Given the description of an element on the screen output the (x, y) to click on. 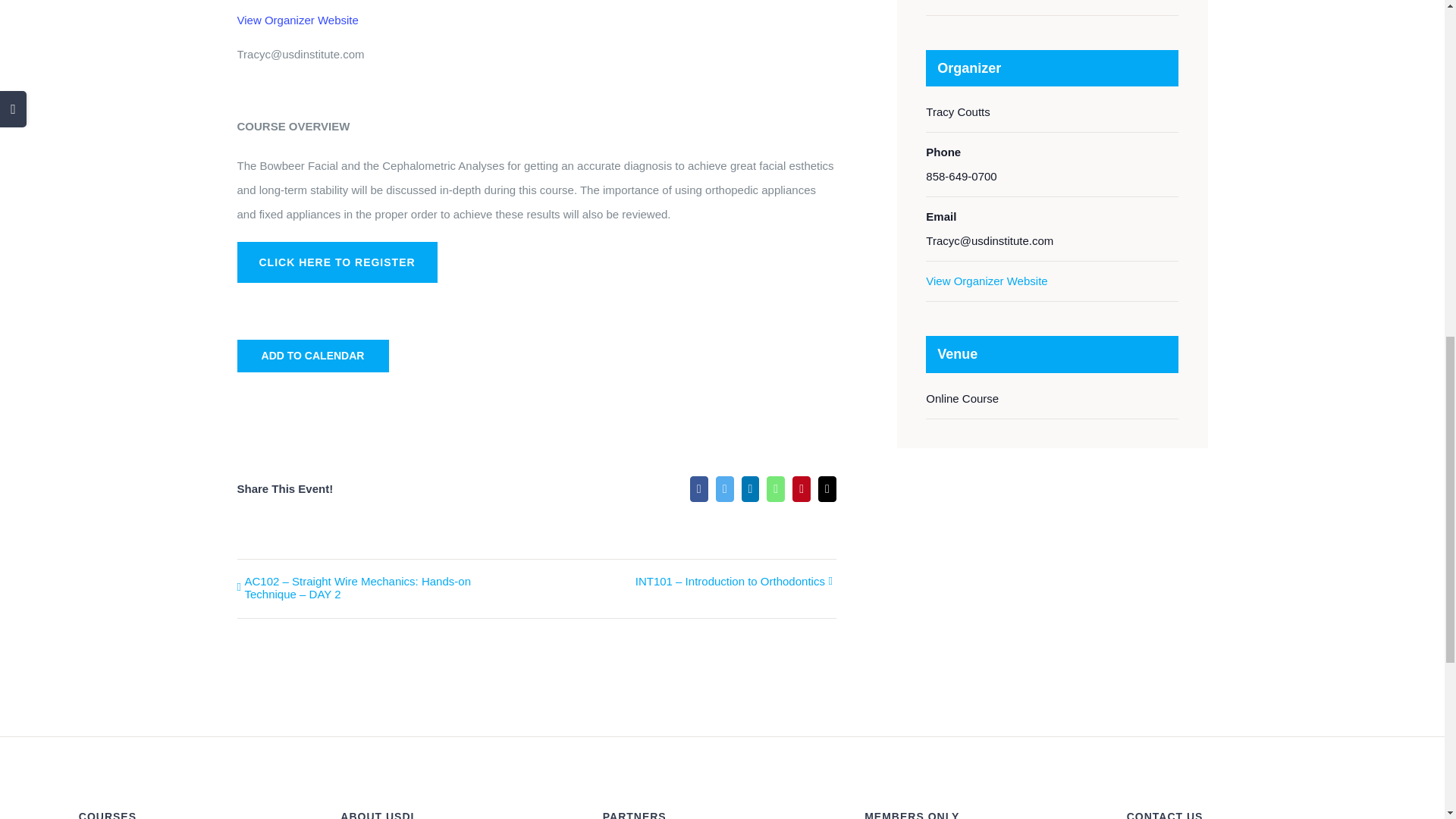
ADD TO CALENDAR (313, 355)
View Organizer Website (986, 280)
View Organizer Website (296, 19)
CLICK HERE TO REGISTER (335, 261)
